Given the description of an element on the screen output the (x, y) to click on. 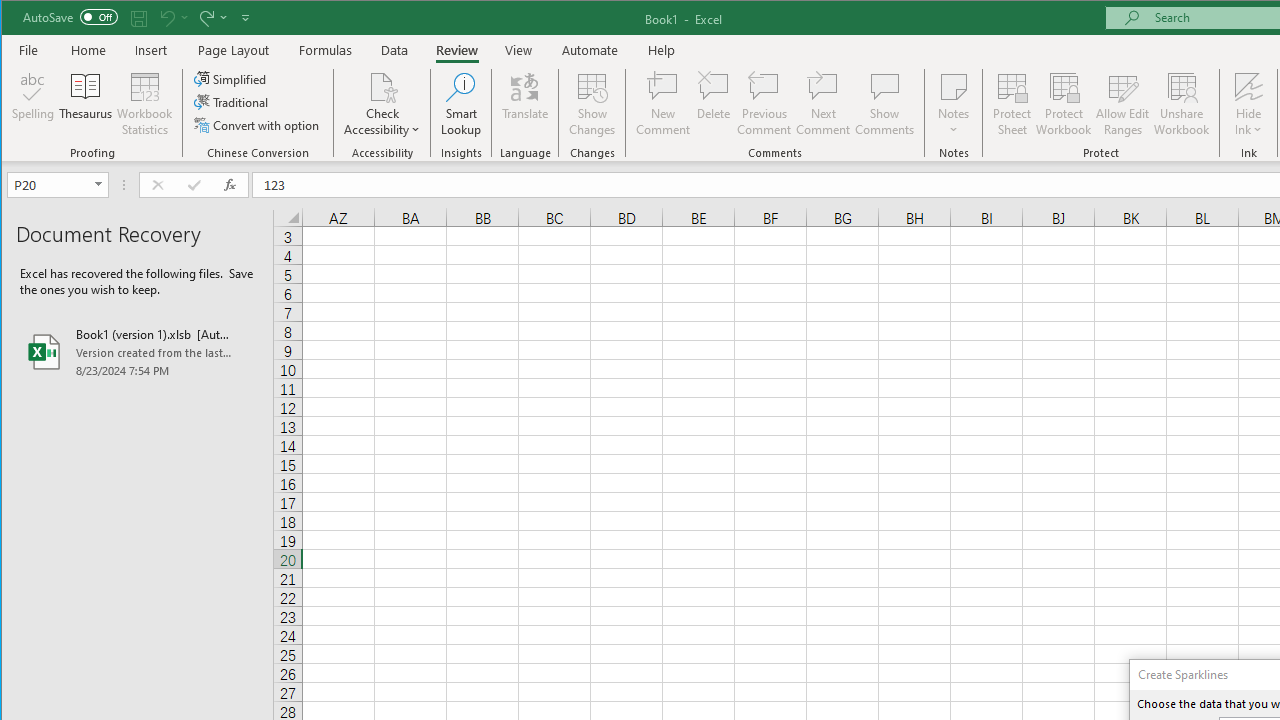
Notes (954, 104)
Protect Workbook... (1064, 104)
Check Accessibility (381, 86)
Delete (713, 104)
New Comment (662, 104)
